Given the description of an element on the screen output the (x, y) to click on. 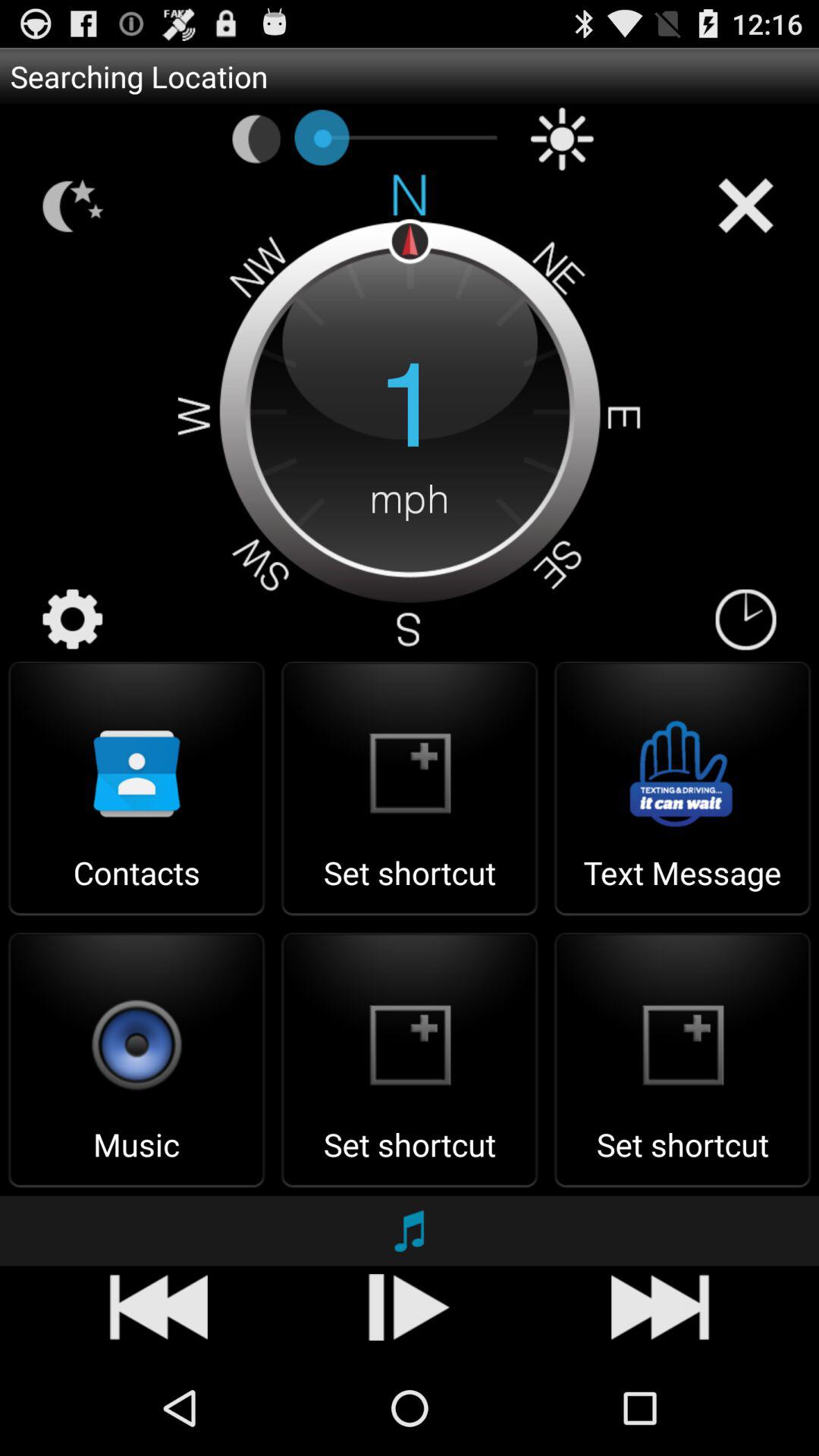
select the app below searching location (561, 138)
